Given the description of an element on the screen output the (x, y) to click on. 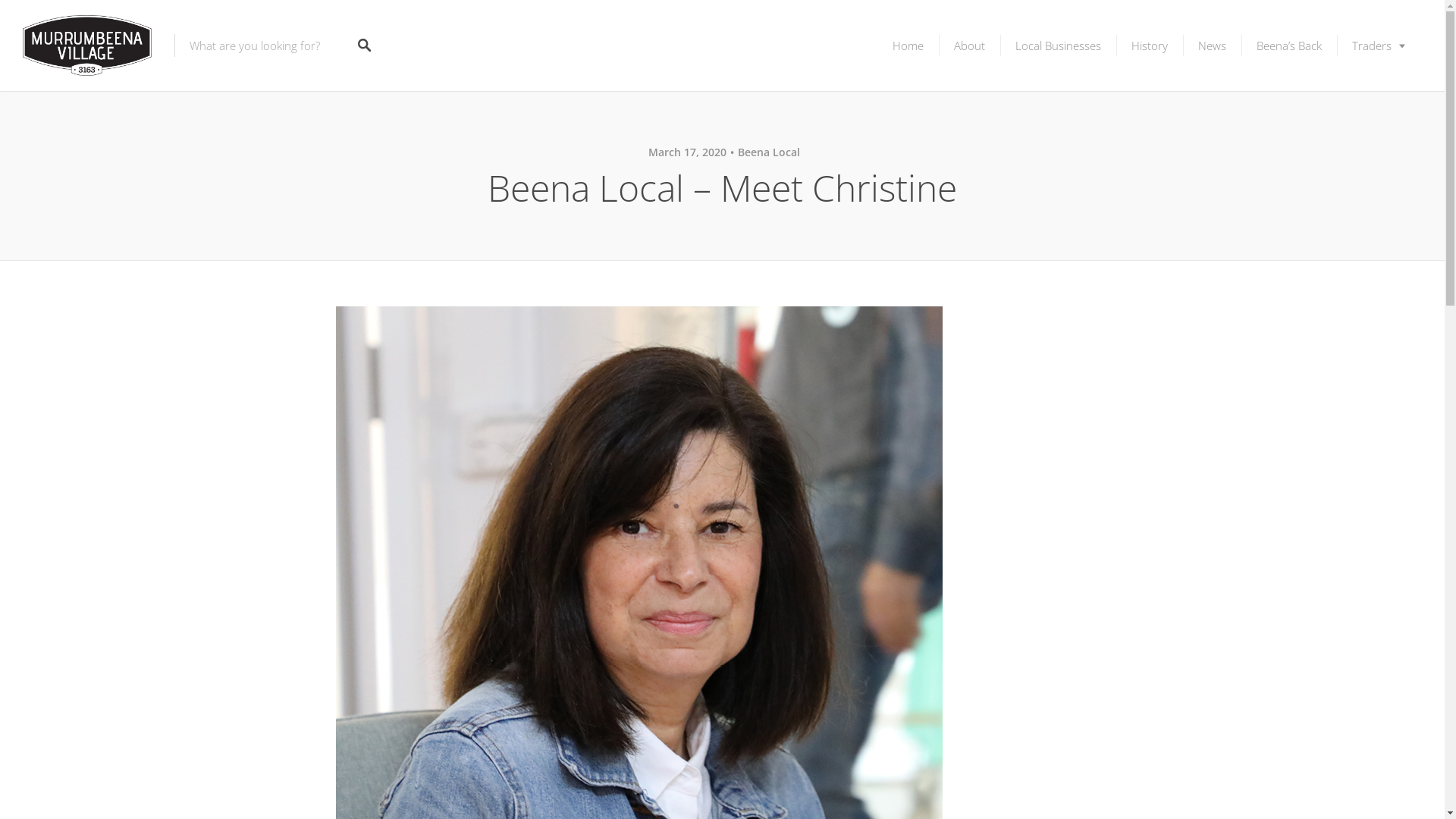
Traders Element type: text (1378, 45)
History Element type: text (1149, 45)
Local Businesses Element type: text (1058, 45)
March 17, 2020 Element type: text (687, 151)
News Element type: text (1212, 45)
Home Element type: text (907, 45)
Beena Local Element type: text (765, 151)
About Element type: text (969, 45)
